Given the description of an element on the screen output the (x, y) to click on. 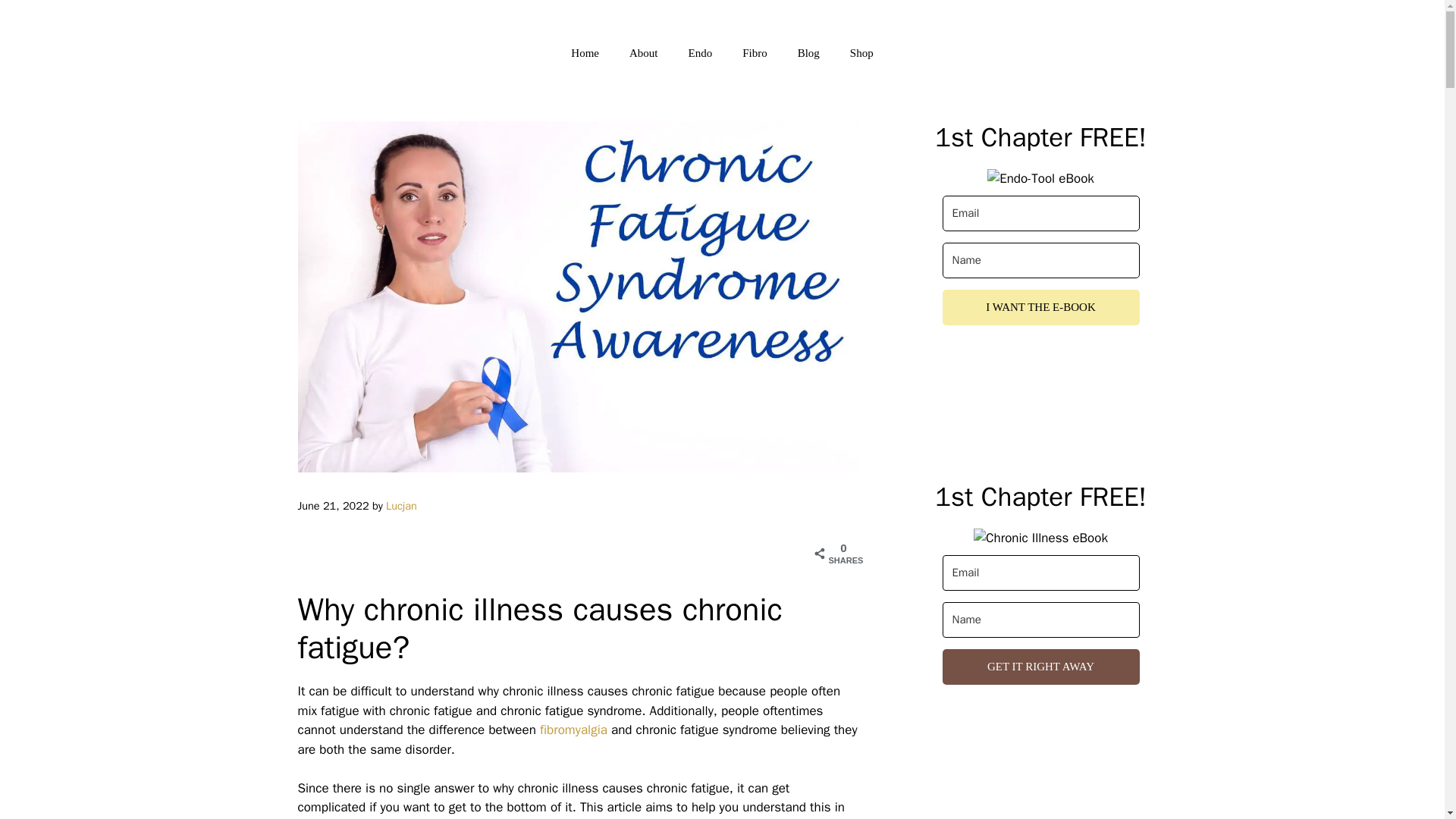
Fibro (754, 53)
Post Comment (69, 18)
About (643, 53)
Home (585, 53)
I WANT THE E-BOOK (1040, 307)
GET IT RIGHT AWAY (1040, 666)
Lucjan (400, 505)
Shop (861, 53)
fibromyalgia (575, 729)
View all posts by Lucjan (400, 505)
